Given the description of an element on the screen output the (x, y) to click on. 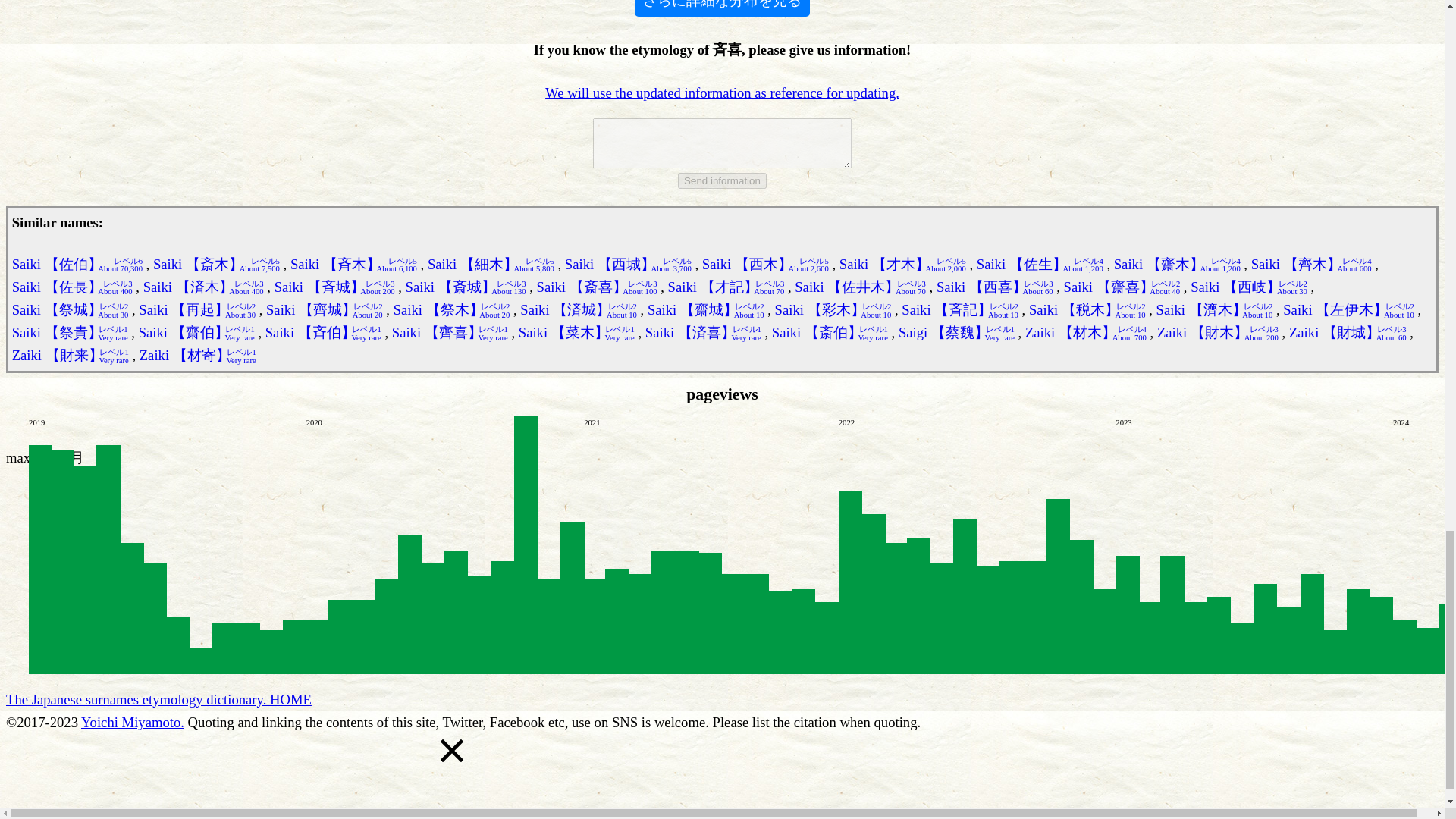
Send information (722, 180)
